Given the description of an element on the screen output the (x, y) to click on. 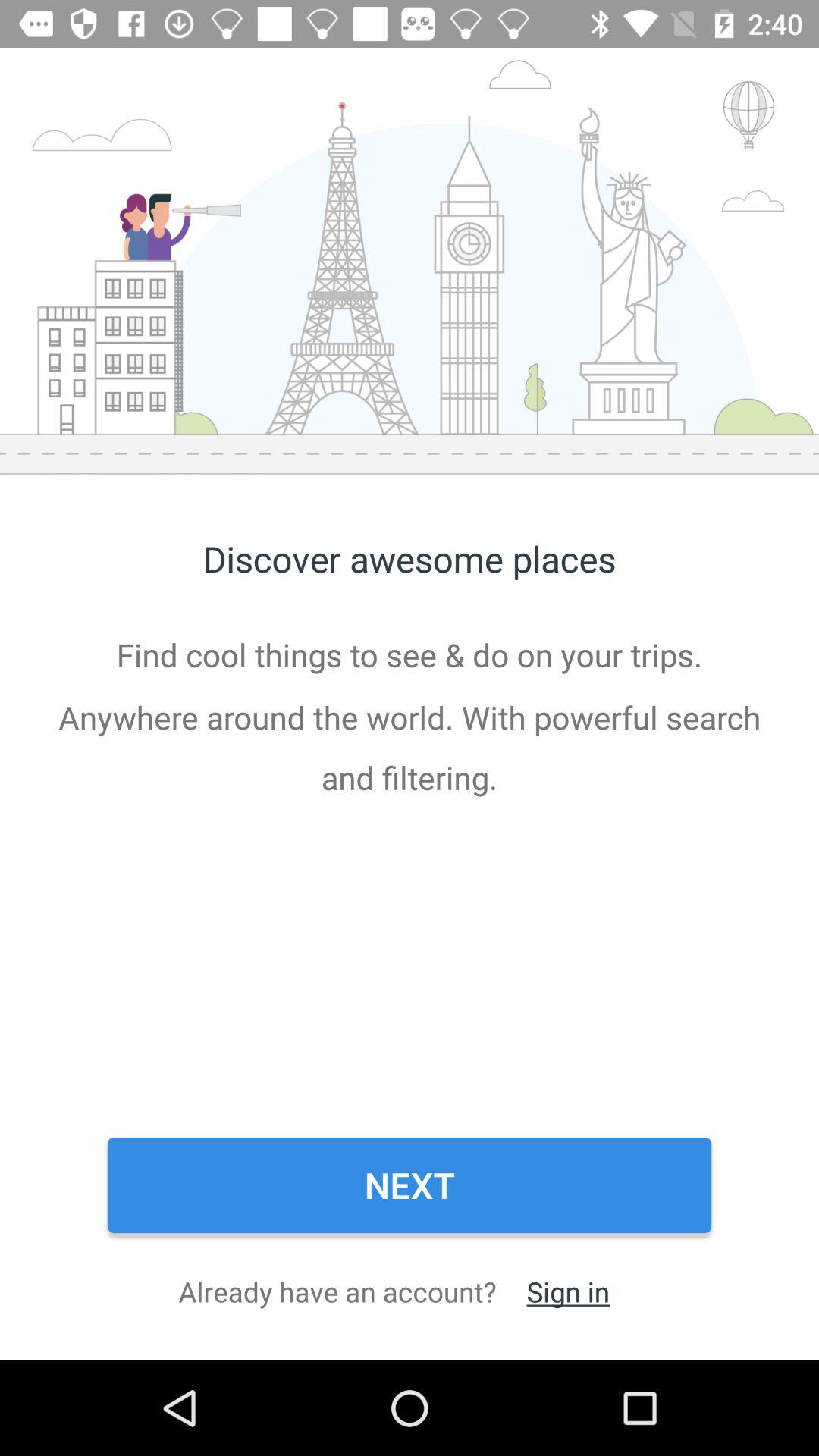
select sign in at the bottom right corner (567, 1291)
